Given the description of an element on the screen output the (x, y) to click on. 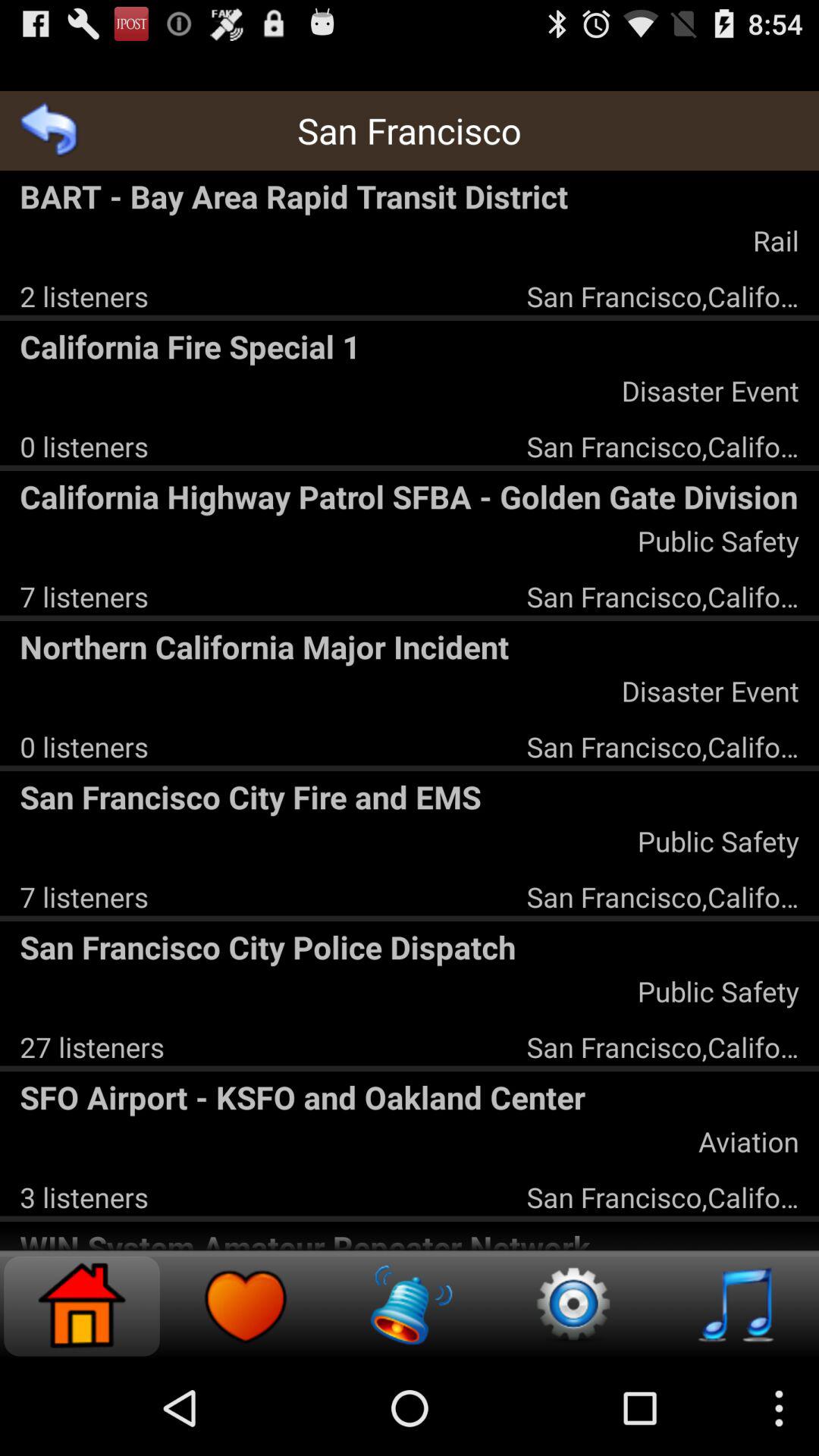
turn off the icon below 7 listeners icon (409, 646)
